Given the description of an element on the screen output the (x, y) to click on. 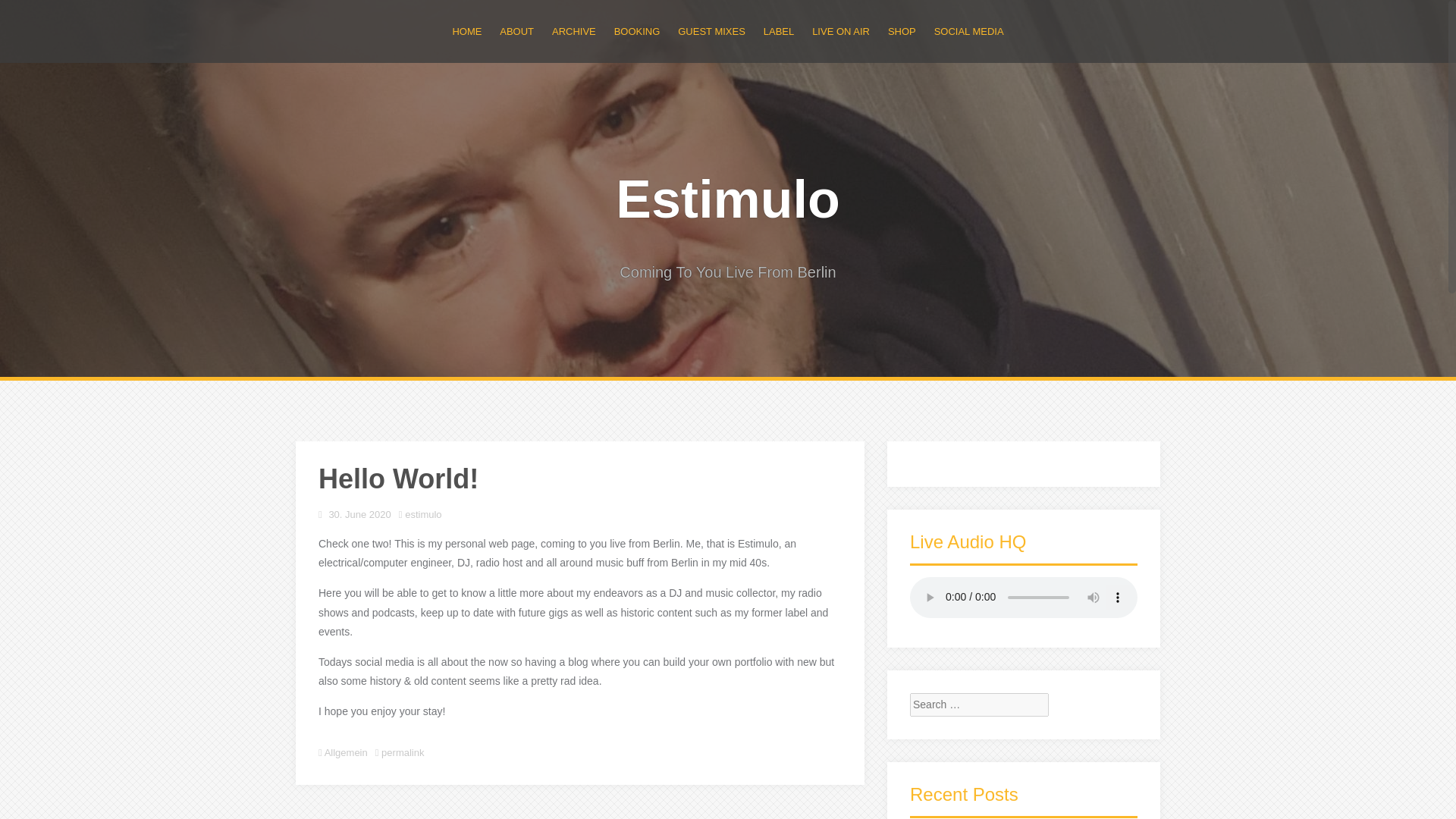
ABOUT (516, 31)
GUEST MIXES (711, 31)
SHOP (901, 31)
estimulo (422, 514)
Allgemein (346, 752)
LIVE ON AIR (840, 31)
30. June 2020 (359, 514)
permalink (401, 752)
LABEL (777, 31)
